Given the description of an element on the screen output the (x, y) to click on. 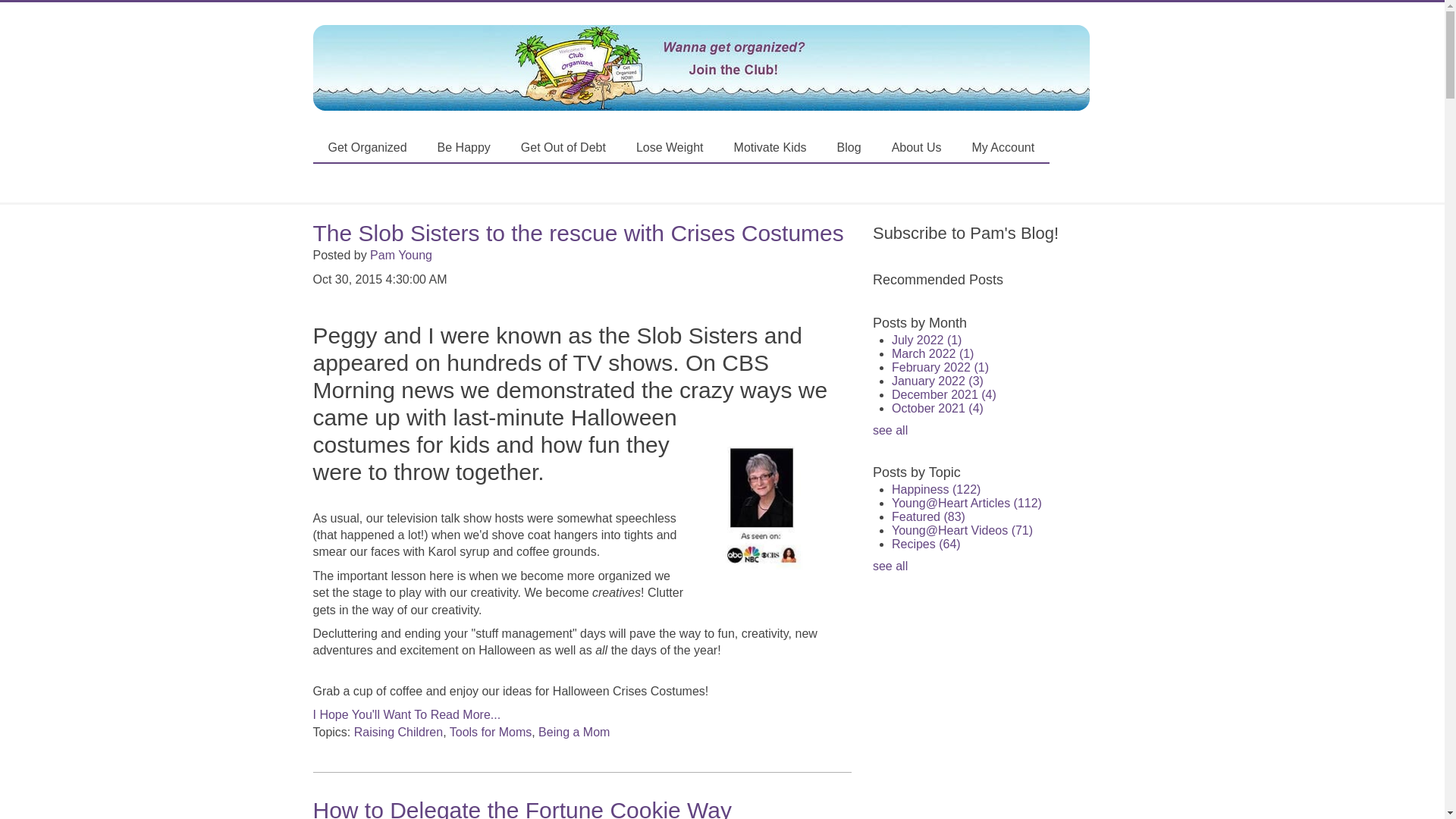
Pam Young (400, 254)
Lose Weight (670, 148)
I Hope You'll Want To Read More... (406, 714)
The Slob Sisters to the rescue with Crises Costumes (578, 232)
Motivate Kids (770, 148)
Blog (849, 148)
Tools for Moms (490, 731)
Get Organized (367, 148)
Being a Mom (574, 731)
My Account (1002, 148)
How to Delegate the Fortune Cookie Way (522, 808)
About Us (916, 148)
Get Out of Debt (563, 148)
Be Happy (463, 148)
Raising Children (397, 731)
